Given the description of an element on the screen output the (x, y) to click on. 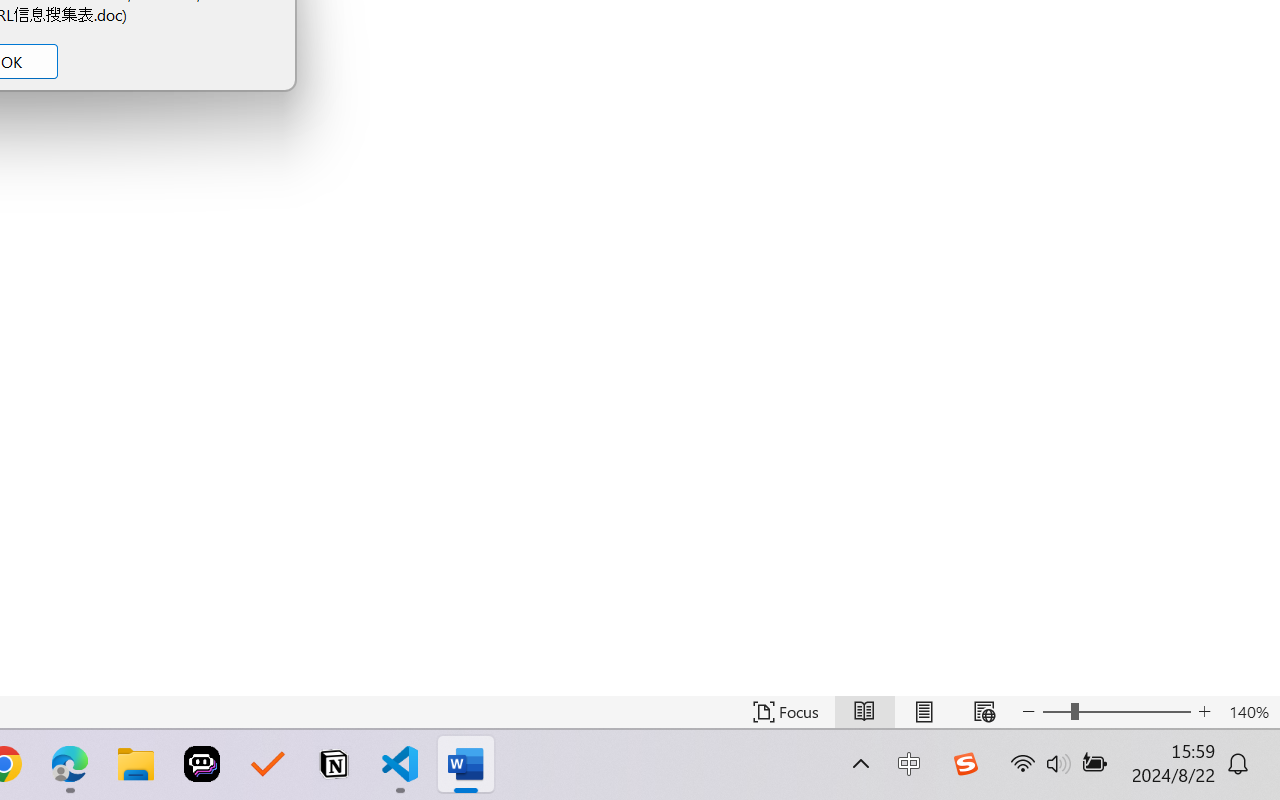
Zoom In (1135, 712)
Focus  (786, 712)
